Given the description of an element on the screen output the (x, y) to click on. 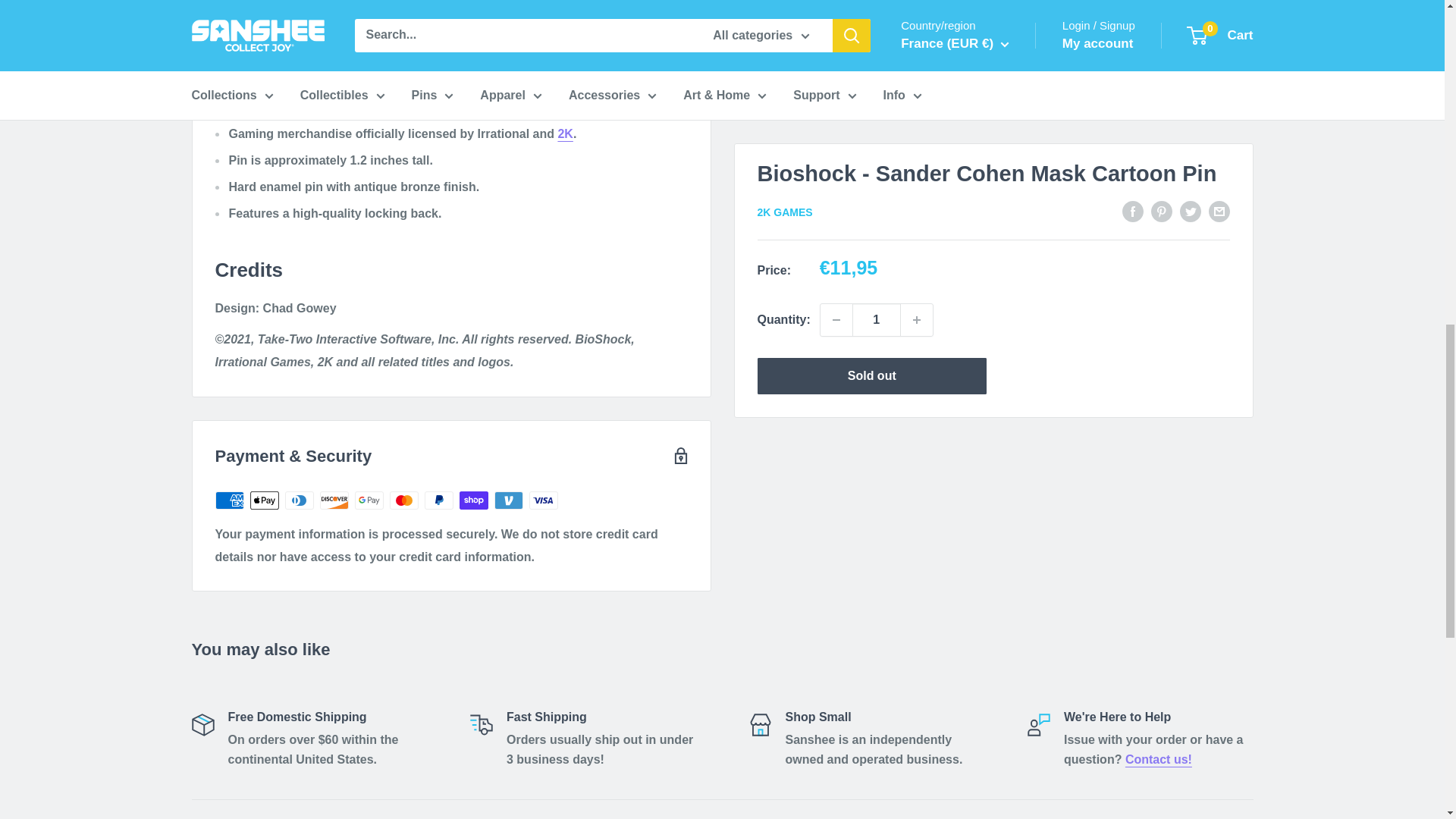
Official BioShock Collection (642, 0)
Sanshee Enamel Pins (343, 15)
Official 2K Collection (564, 133)
Contact Us! (1158, 758)
